Given the description of an element on the screen output the (x, y) to click on. 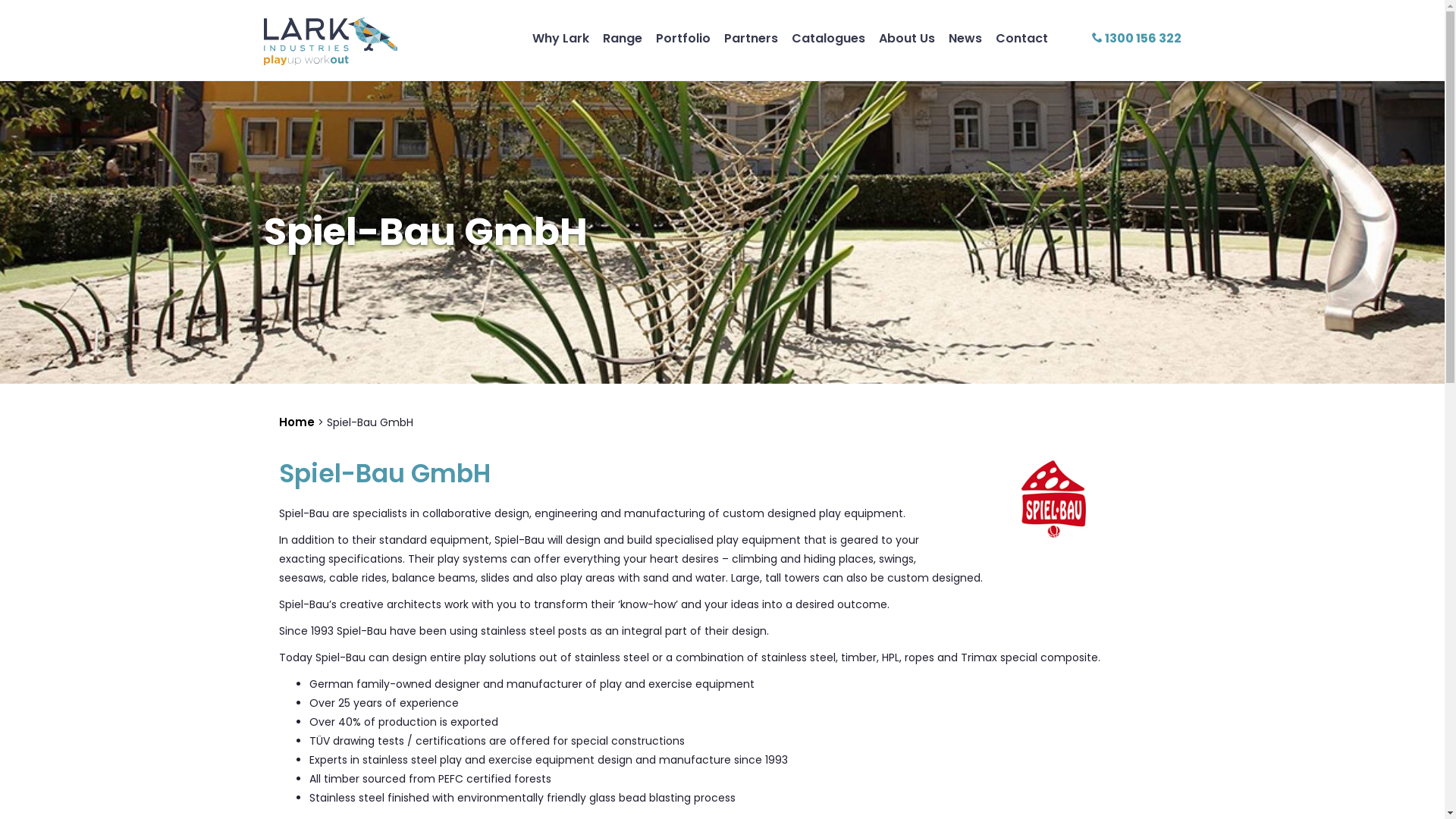
Range Element type: text (621, 38)
Partners Element type: text (750, 38)
phone 1300 156 322 Element type: text (1136, 38)
Catalogues Element type: text (828, 38)
Portfolio Element type: text (682, 38)
About Us Element type: text (906, 38)
Contact Element type: text (1020, 38)
News Element type: text (964, 38)
Home Element type: text (296, 421)
Why Lark Element type: text (560, 38)
